Given the description of an element on the screen output the (x, y) to click on. 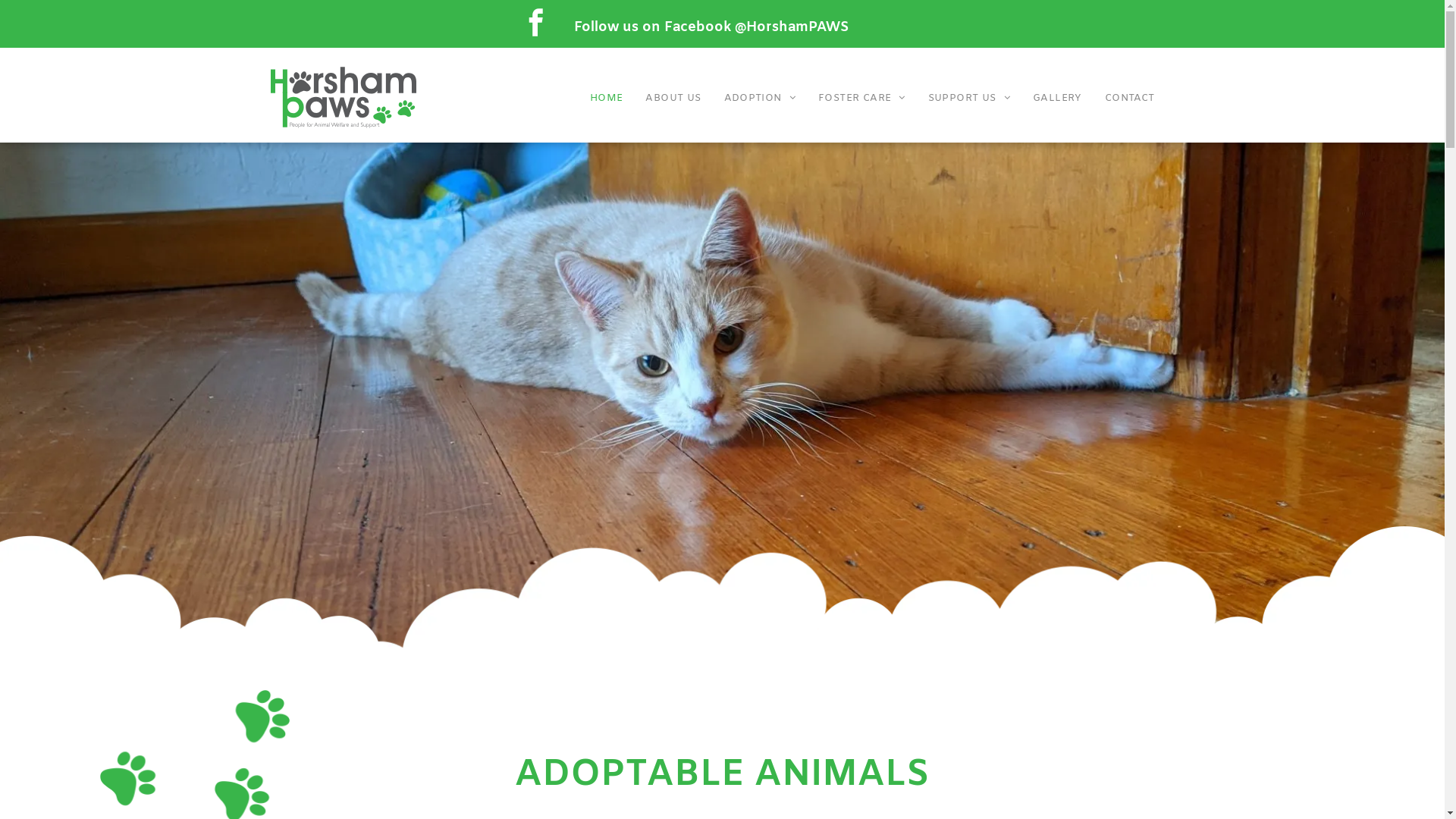
ADOPTION Element type: text (759, 98)
Follow us on Facebook @HorshamPAWS Element type: text (711, 27)
HOME Element type: text (606, 98)
SUPPORT US Element type: text (968, 98)
ABOUT US Element type: text (672, 98)
GALLERY Element type: text (1057, 98)
CONTACT Element type: text (1129, 98)
FOSTER CARE Element type: text (861, 98)
